Given the description of an element on the screen output the (x, y) to click on. 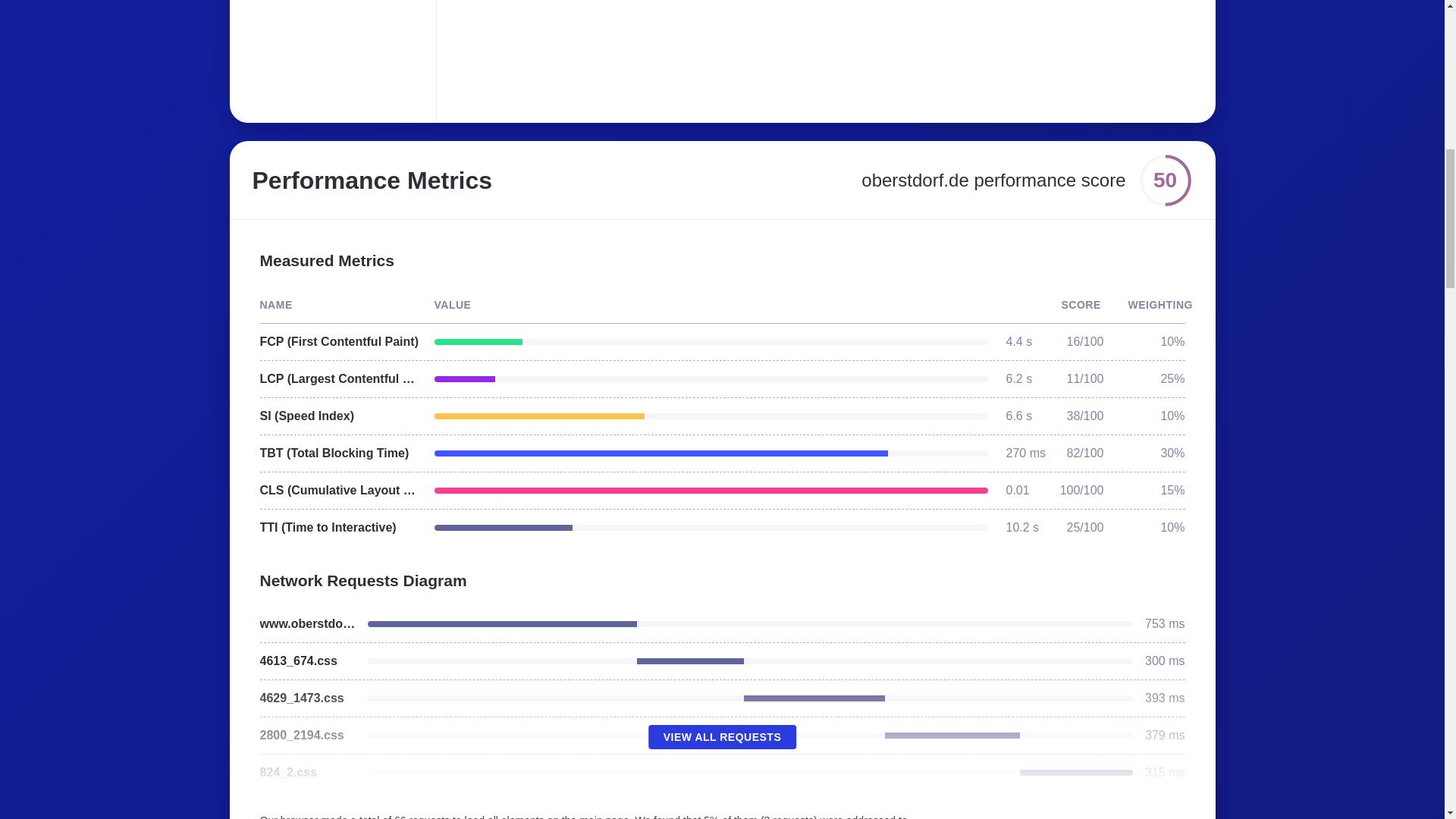
Advertisement (686, 52)
VIEW ALL REQUESTS (721, 736)
